Given the description of an element on the screen output the (x, y) to click on. 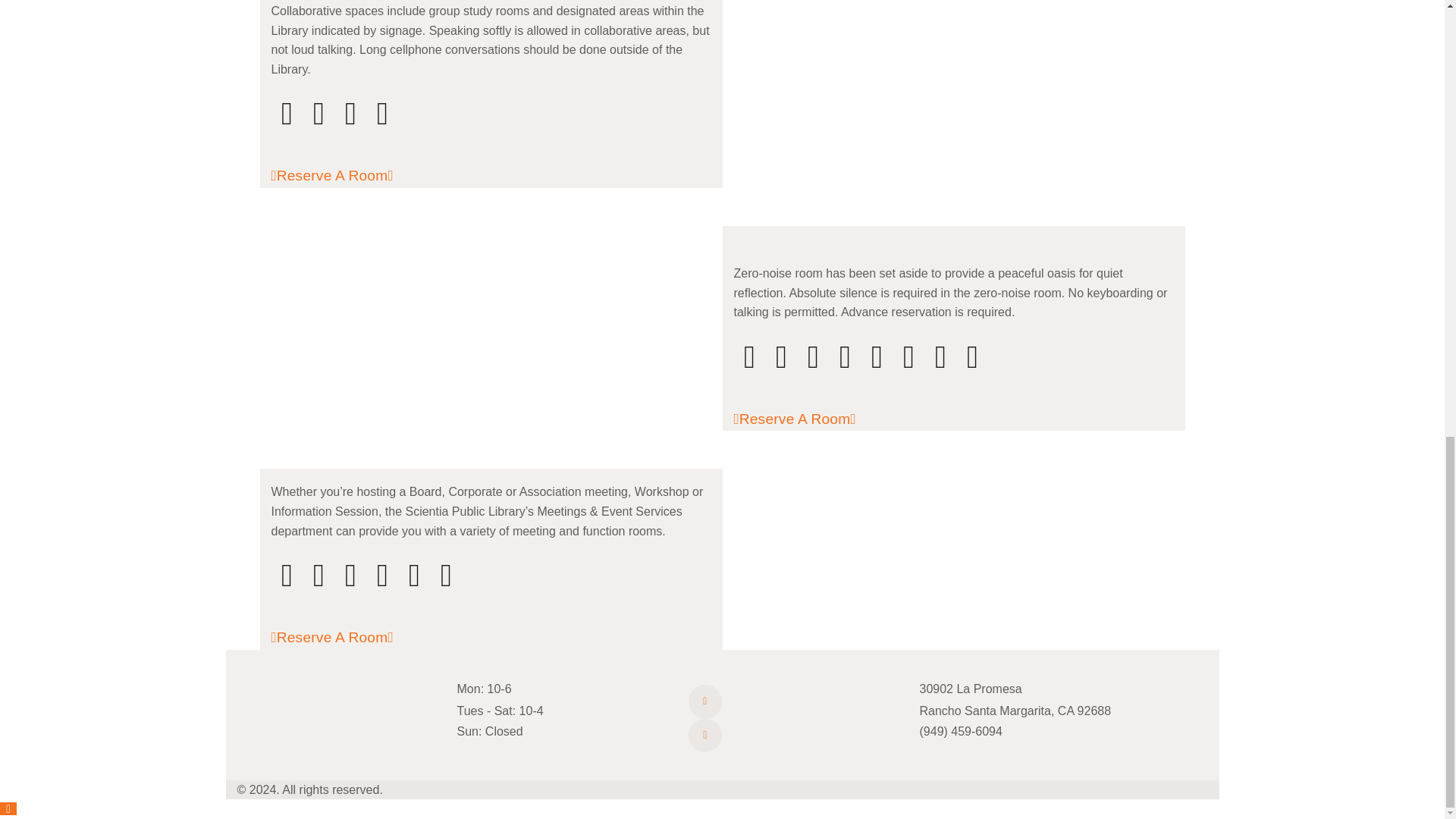
Reserve A Room (807, 418)
Reserve A Room (345, 636)
Reserve A Room (345, 175)
Scroll to top (8, 808)
